Given the description of an element on the screen output the (x, y) to click on. 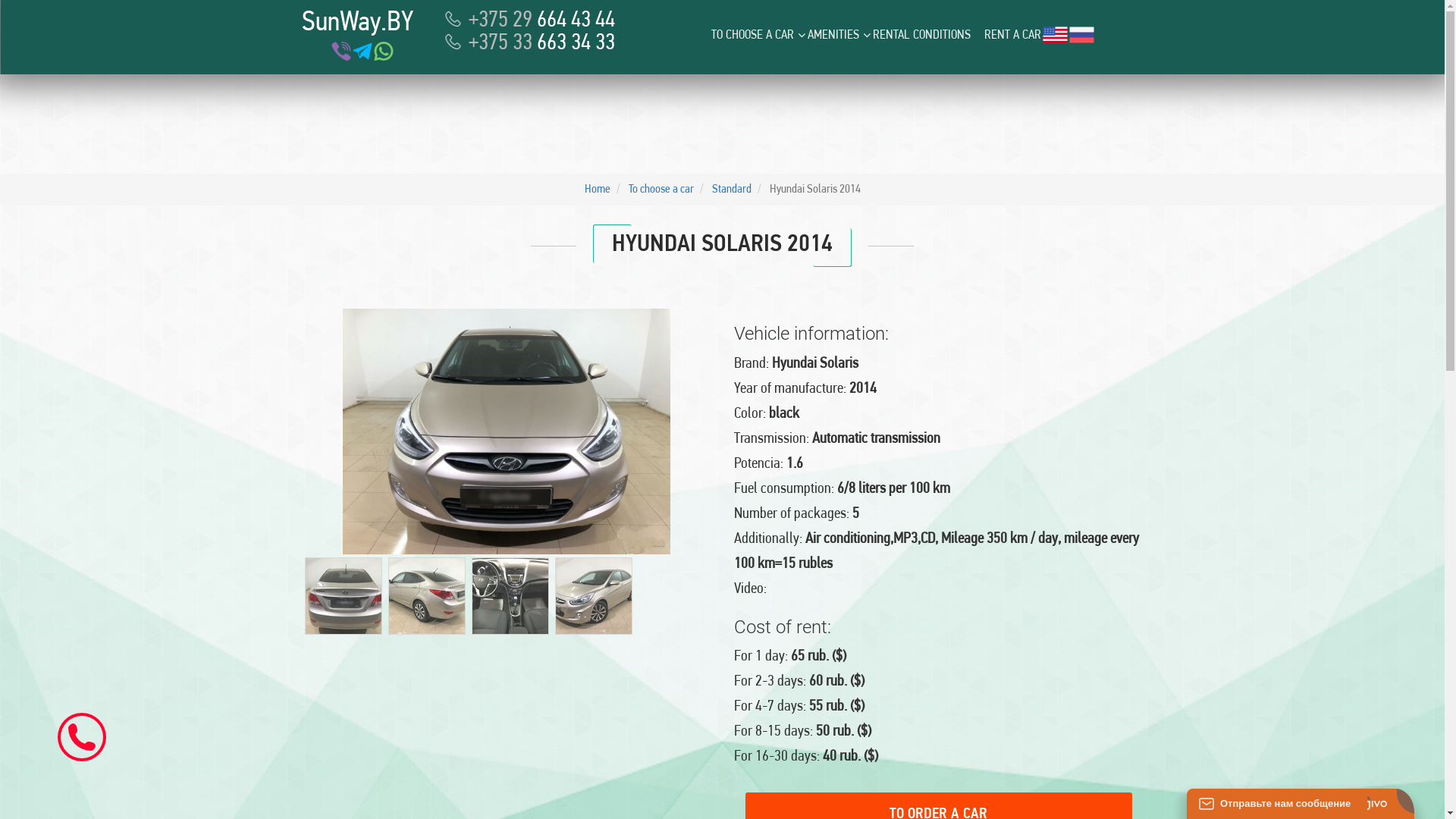
+375 29 664 43 44 Element type: text (530, 20)
4264281652.jpg Element type: hover (426, 595)
RENT A CAR Element type: text (1012, 34)
+375 33 663 34 33 Element type: text (530, 43)
4264281721.jpg Element type: hover (592, 595)
AMENITIES Element type: text (832, 34)
TO CHOOSE A CAR Element type: text (752, 34)
RENTAL CONDITIONS Element type: text (920, 34)
Standard Element type: text (730, 189)
4264281616.jpg Element type: hover (509, 595)
SunWay.BY Element type: text (357, 23)
4264281510.jpg Element type: hover (342, 595)
To choose a car Element type: text (660, 189)
Home Element type: text (596, 189)
